Given the description of an element on the screen output the (x, y) to click on. 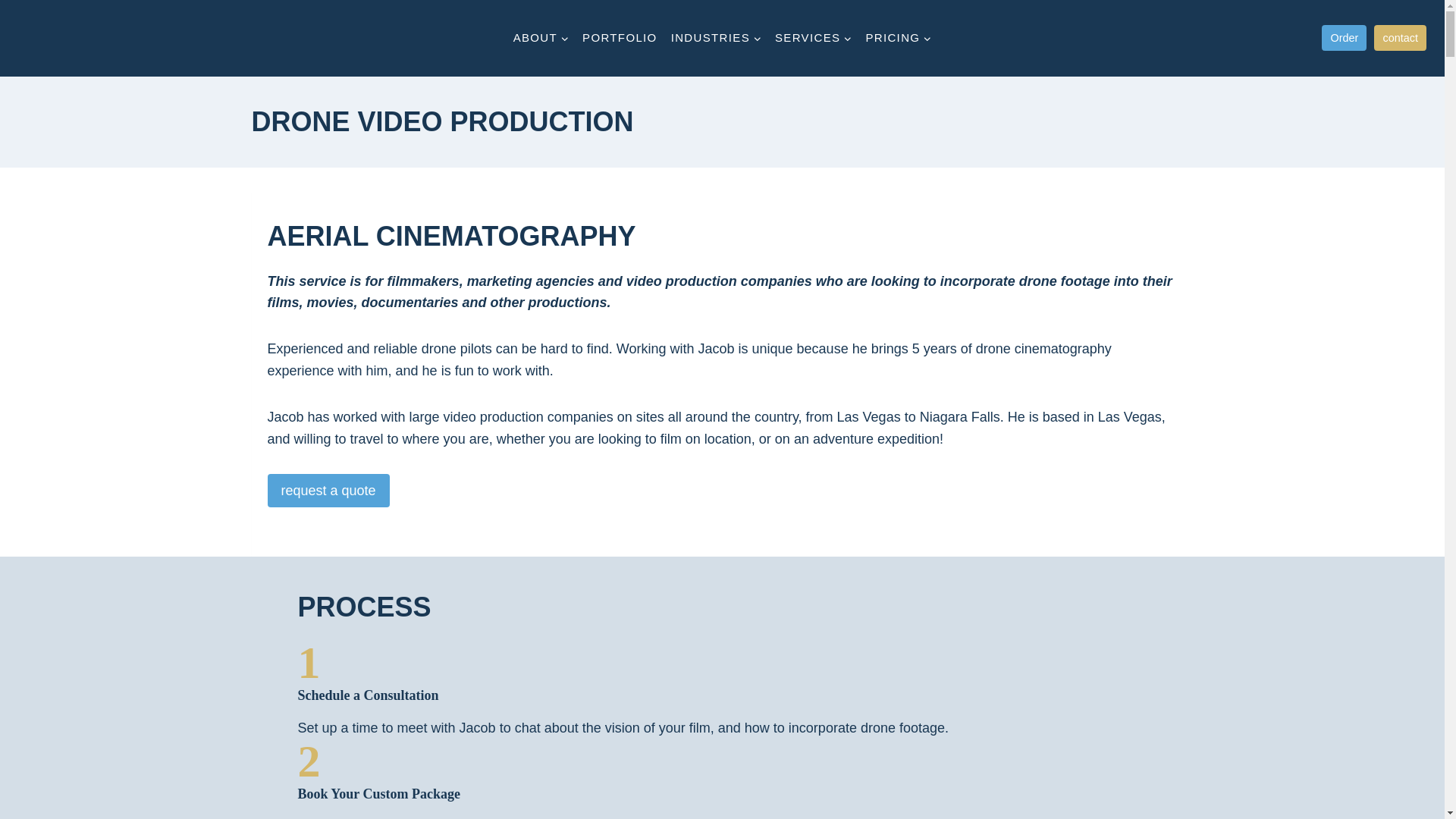
INDUSTRIES (715, 38)
PORTFOLIO (619, 38)
Order (1344, 37)
SERVICES (813, 38)
PRICING (898, 38)
ABOUT (540, 38)
contact (1400, 37)
